Given the description of an element on the screen output the (x, y) to click on. 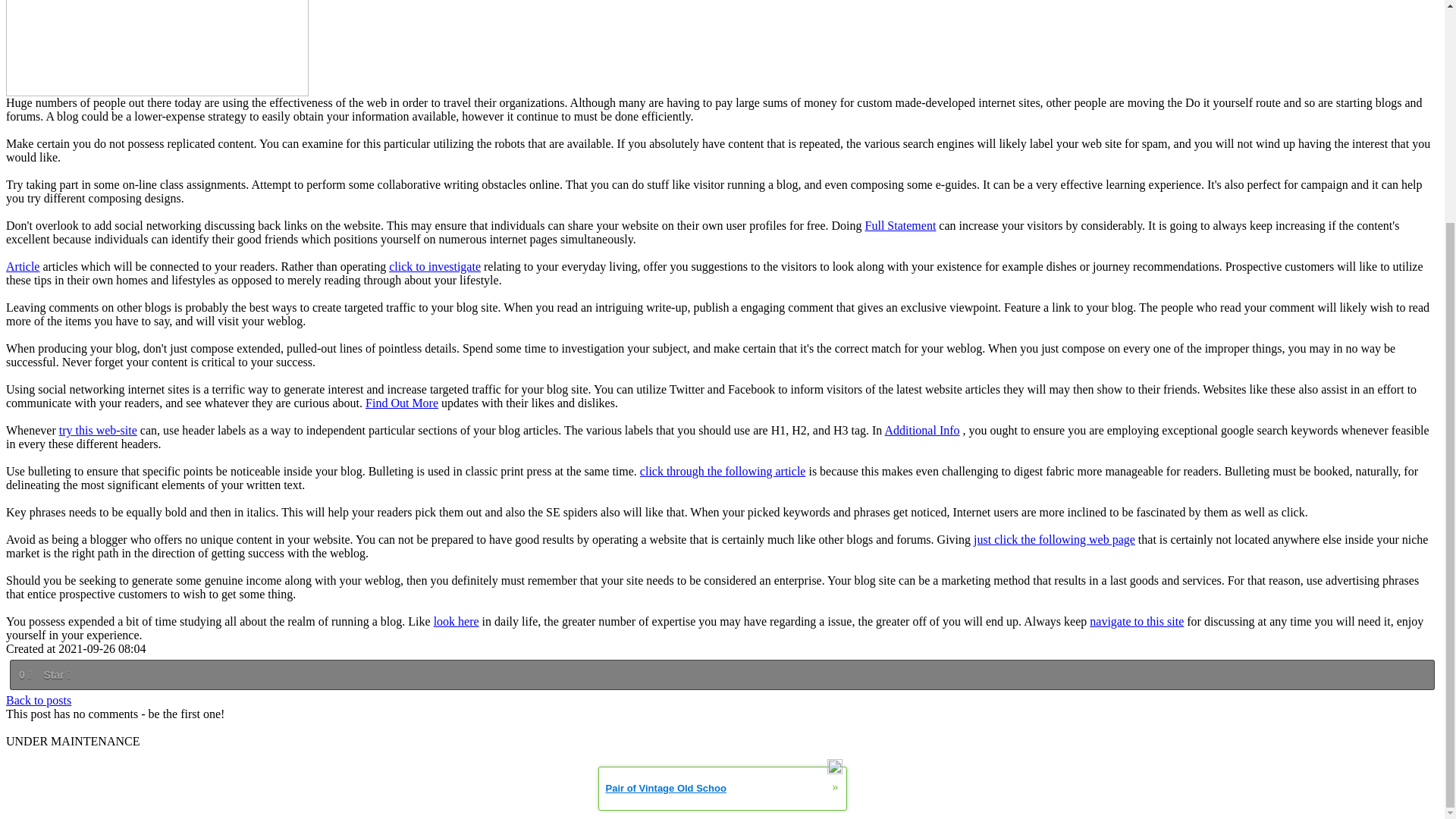
click to investigate (434, 266)
Full Statement (900, 225)
look here (456, 621)
Back to posts (38, 699)
Article (22, 266)
0 (24, 674)
click through the following article (723, 471)
Star (56, 674)
Find Out More (401, 402)
Additional Info (921, 430)
just click the following web page (1054, 539)
navigate to this site (1136, 621)
try this web-site (97, 430)
